Given the description of an element on the screen output the (x, y) to click on. 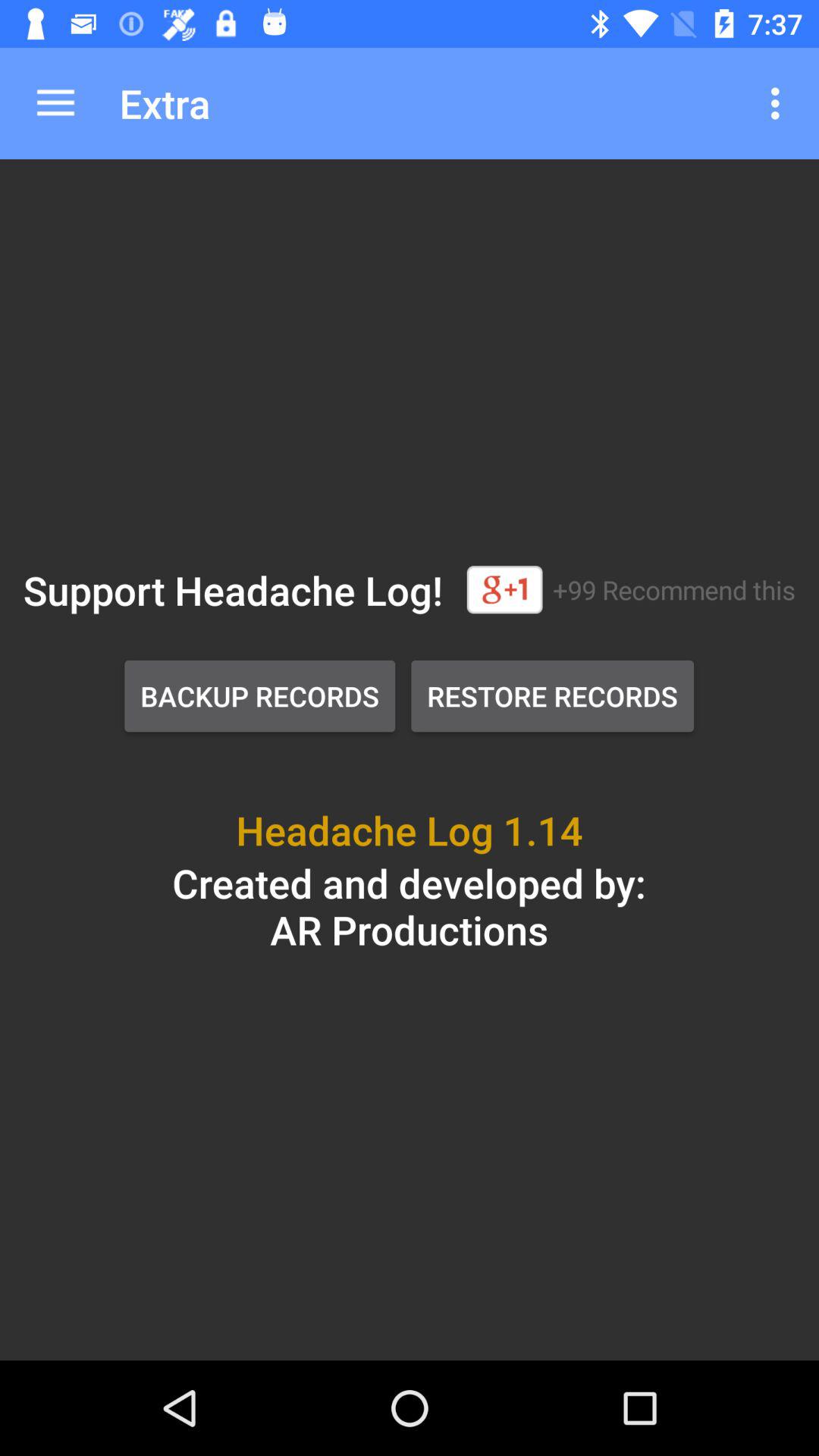
turn off item to the left of the restore records item (259, 695)
